Given the description of an element on the screen output the (x, y) to click on. 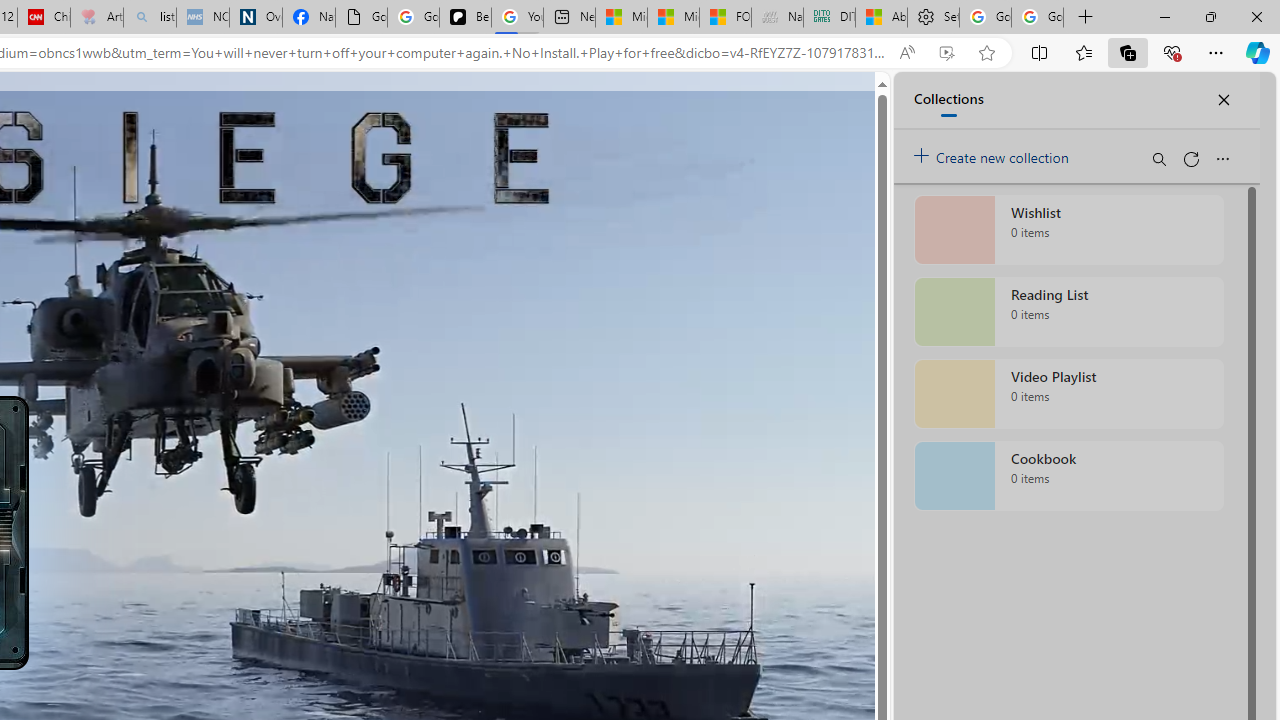
Google Analytics Opt-out Browser Add-on Download Page (360, 17)
FOX News - MSN (725, 17)
Arthritis: Ask Health Professionals - Sleeping (96, 17)
